Given the description of an element on the screen output the (x, y) to click on. 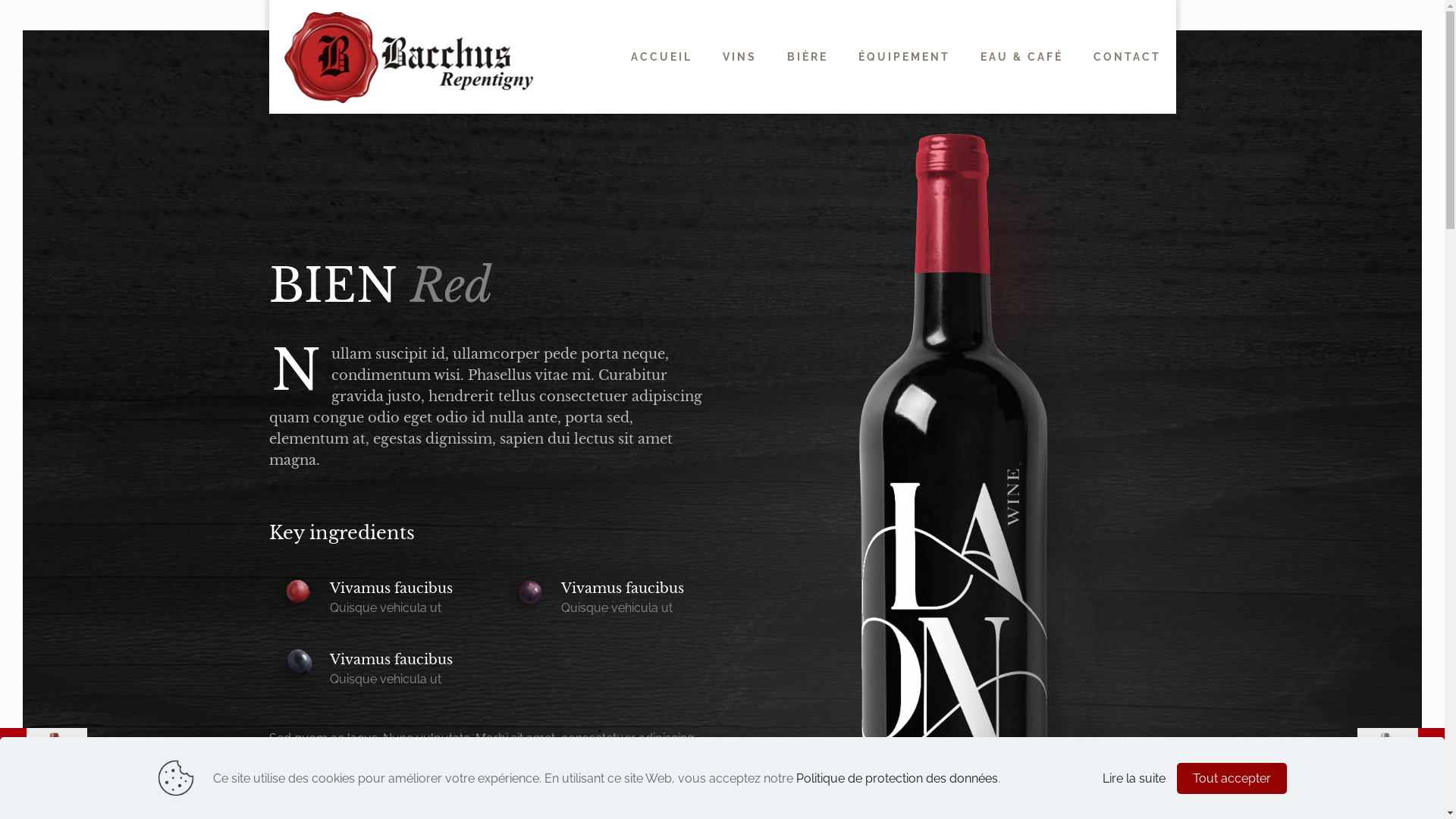
VINS Element type: text (738, 56)
CONTACT Element type: text (1127, 56)
ACCUEIL Element type: text (661, 56)
Bacchus Repentigny Element type: hover (409, 56)
Lire la suite Element type: text (1133, 777)
Tout accepter Element type: text (1231, 777)
